Given the description of an element on the screen output the (x, y) to click on. 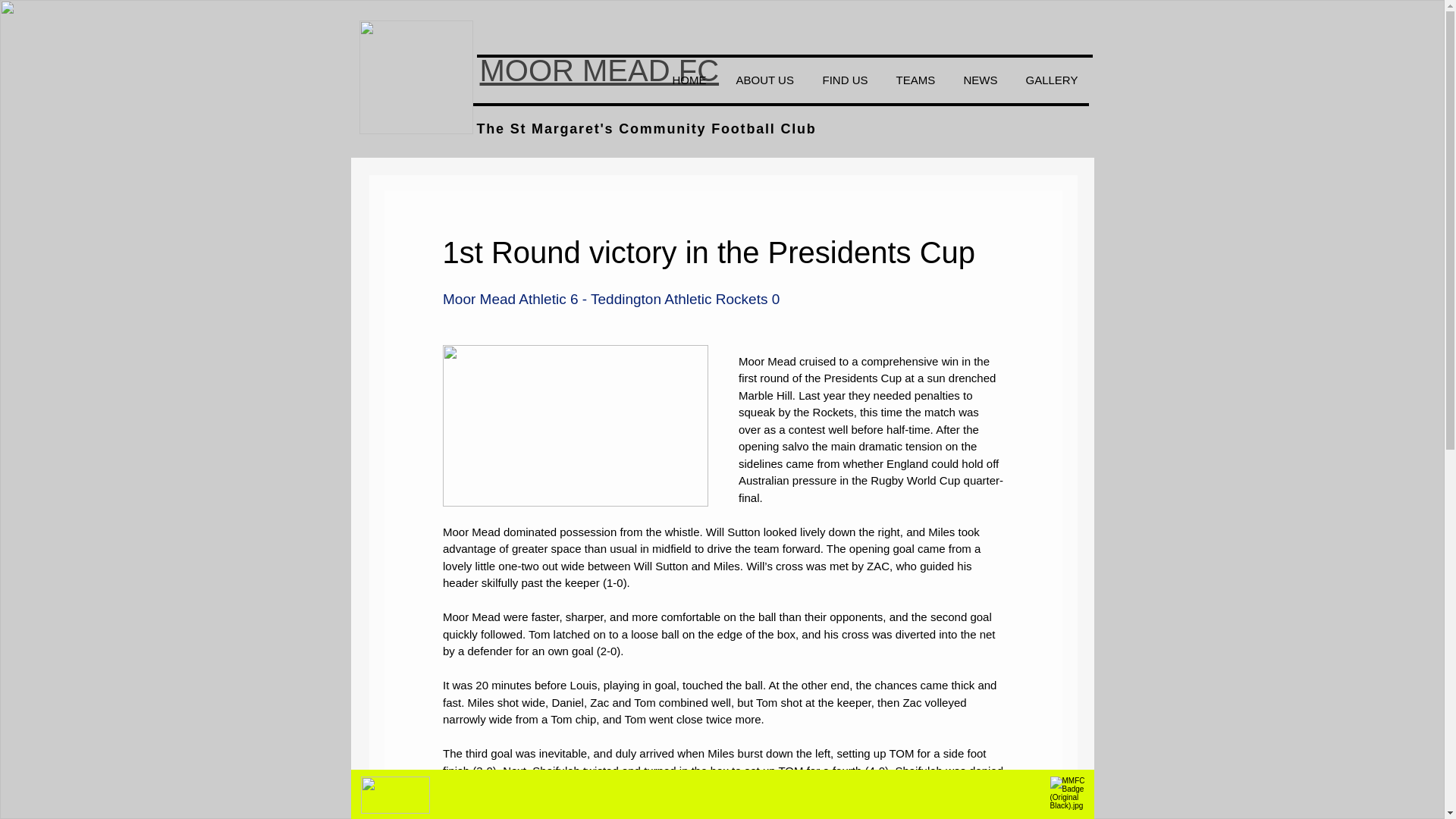
FA Chartered Club Badge.png (395, 795)
NEWS (983, 80)
GALLERY (1054, 80)
ABOUT US (767, 80)
FIND US (847, 80)
MOOR MEAD FC (599, 70)
HOME (693, 80)
